Given the description of an element on the screen output the (x, y) to click on. 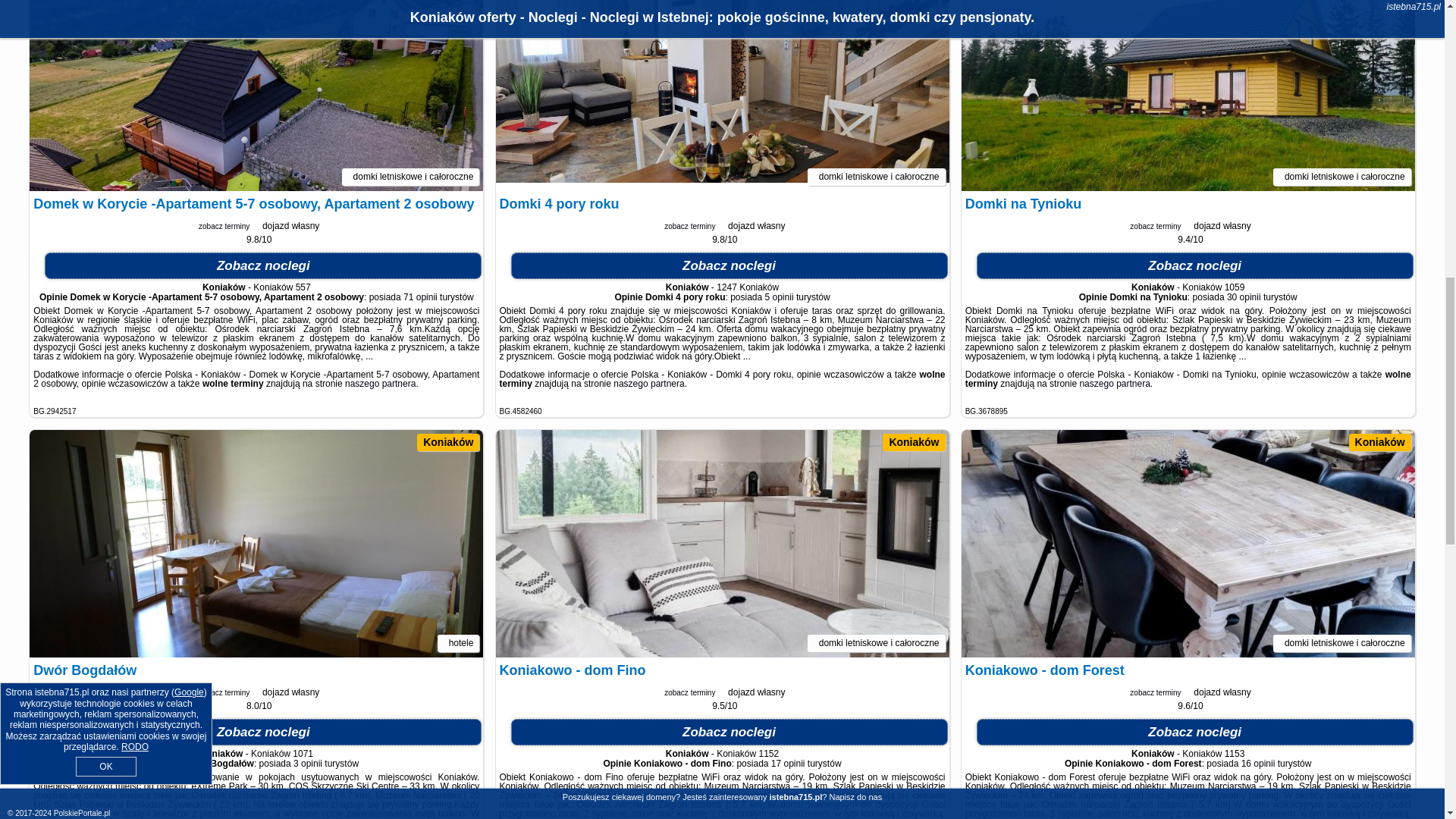
Zobacz noclegi (729, 265)
naszego partnera (379, 383)
zobacz terminy (688, 225)
zobacz terminy (223, 225)
naszego partnera (648, 383)
71 opinii (420, 296)
5 opinii (779, 296)
Zobacz noclegi (263, 265)
